Given the description of an element on the screen output the (x, y) to click on. 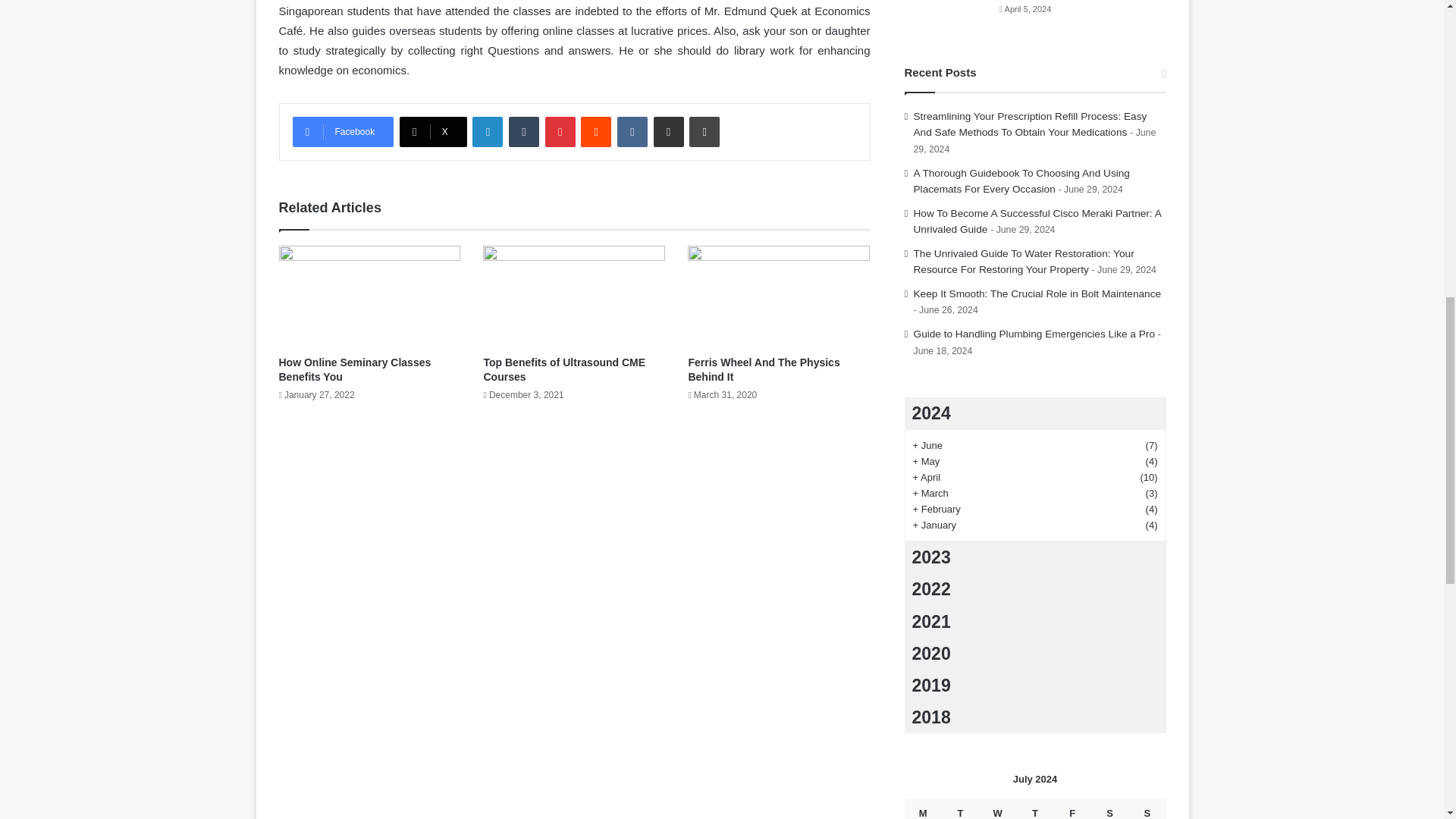
Facebook (343, 132)
Pinterest (559, 132)
Reddit (595, 132)
Tumblr (523, 132)
X (432, 132)
Share via Email (668, 132)
LinkedIn (486, 132)
VKontakte (632, 132)
Facebook (343, 132)
X (432, 132)
